Given the description of an element on the screen output the (x, y) to click on. 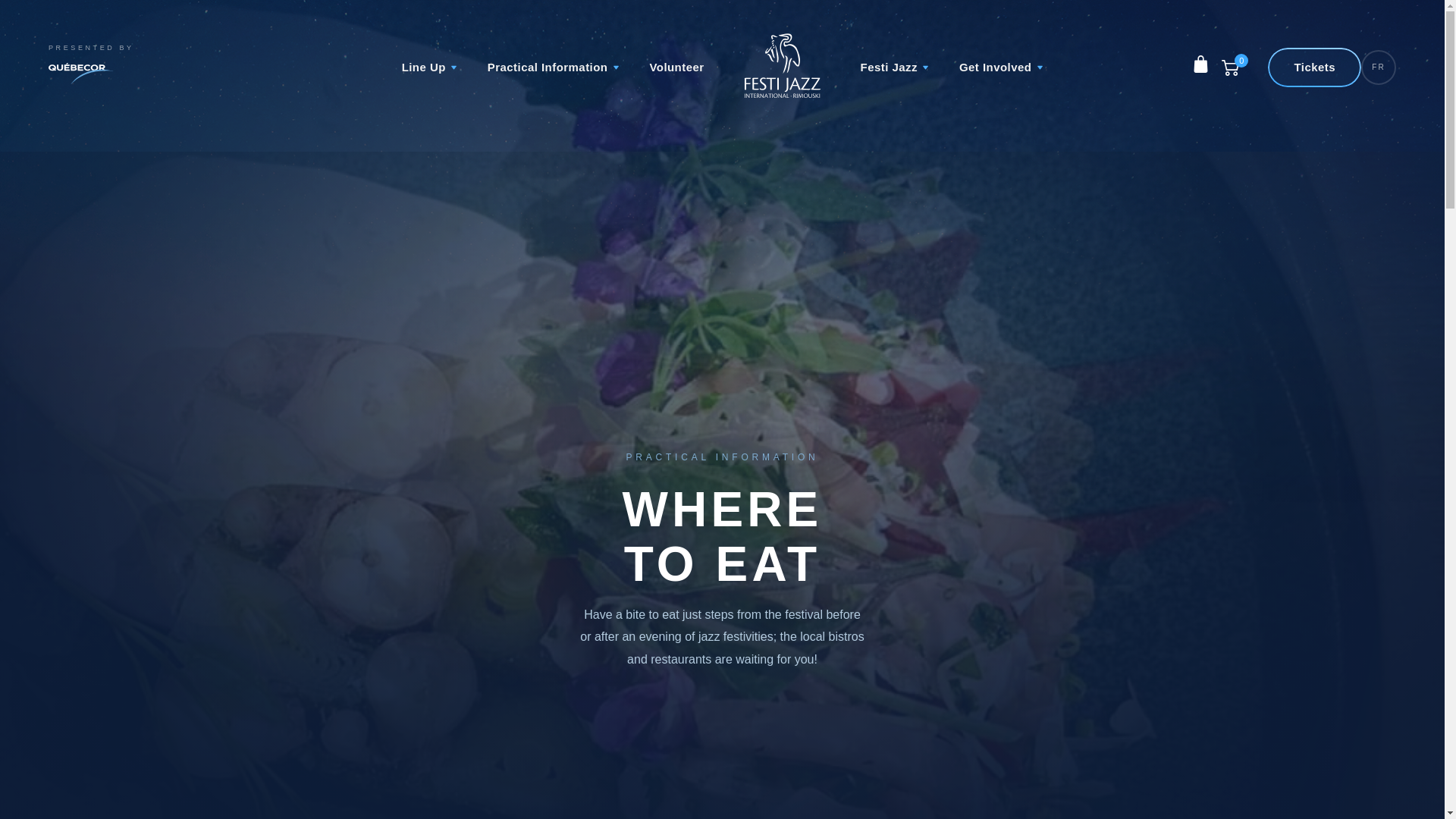
Line Up (429, 67)
Practical Information (553, 67)
FR (1378, 67)
Get Involved (1000, 67)
Tickets (1314, 67)
Volunteer (676, 67)
Festi Jazz (894, 67)
